Given the description of an element on the screen output the (x, y) to click on. 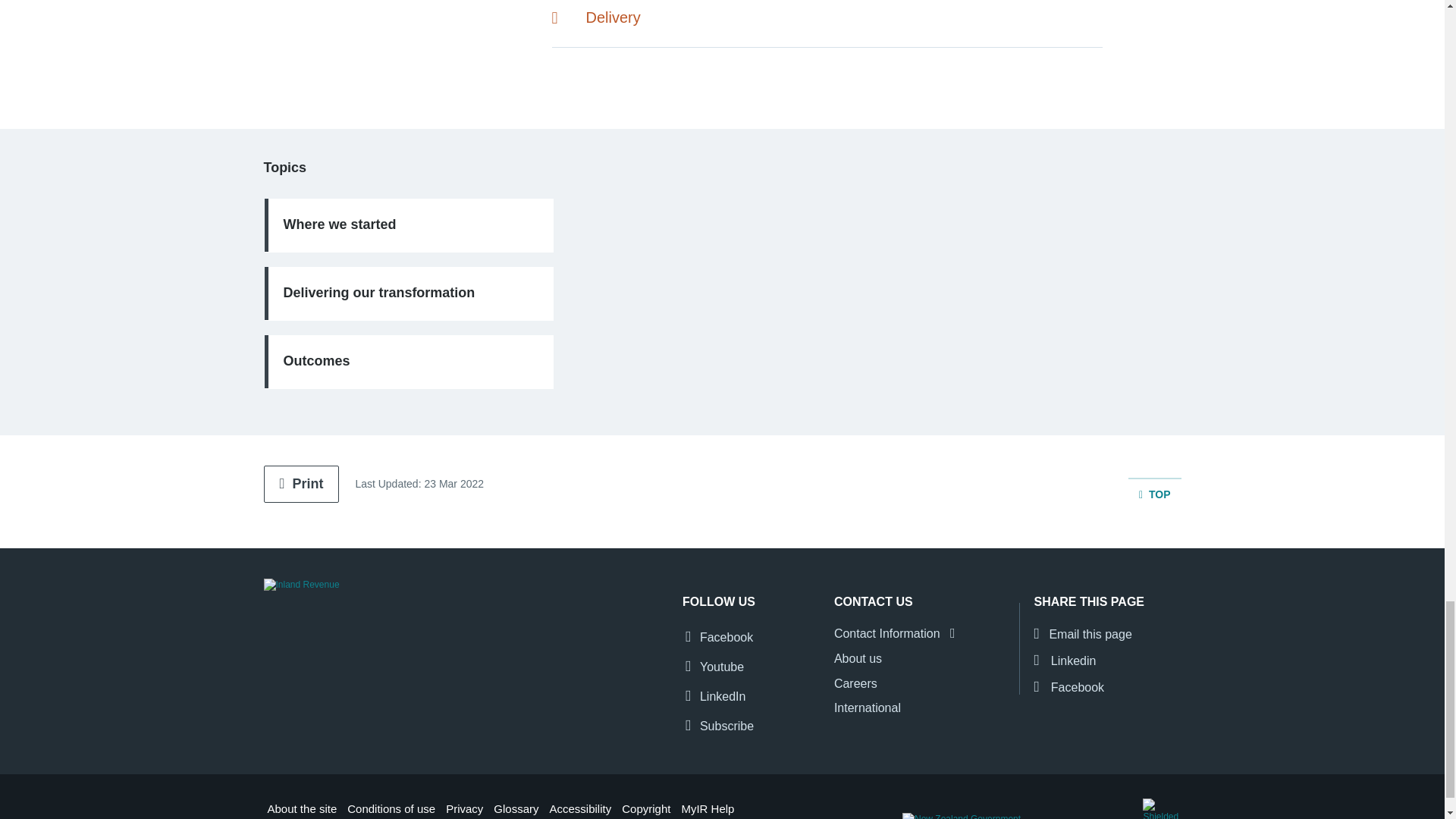
Delivering our transformation (408, 293)
Where we started (408, 225)
Outcomes (408, 361)
